Given the description of an element on the screen output the (x, y) to click on. 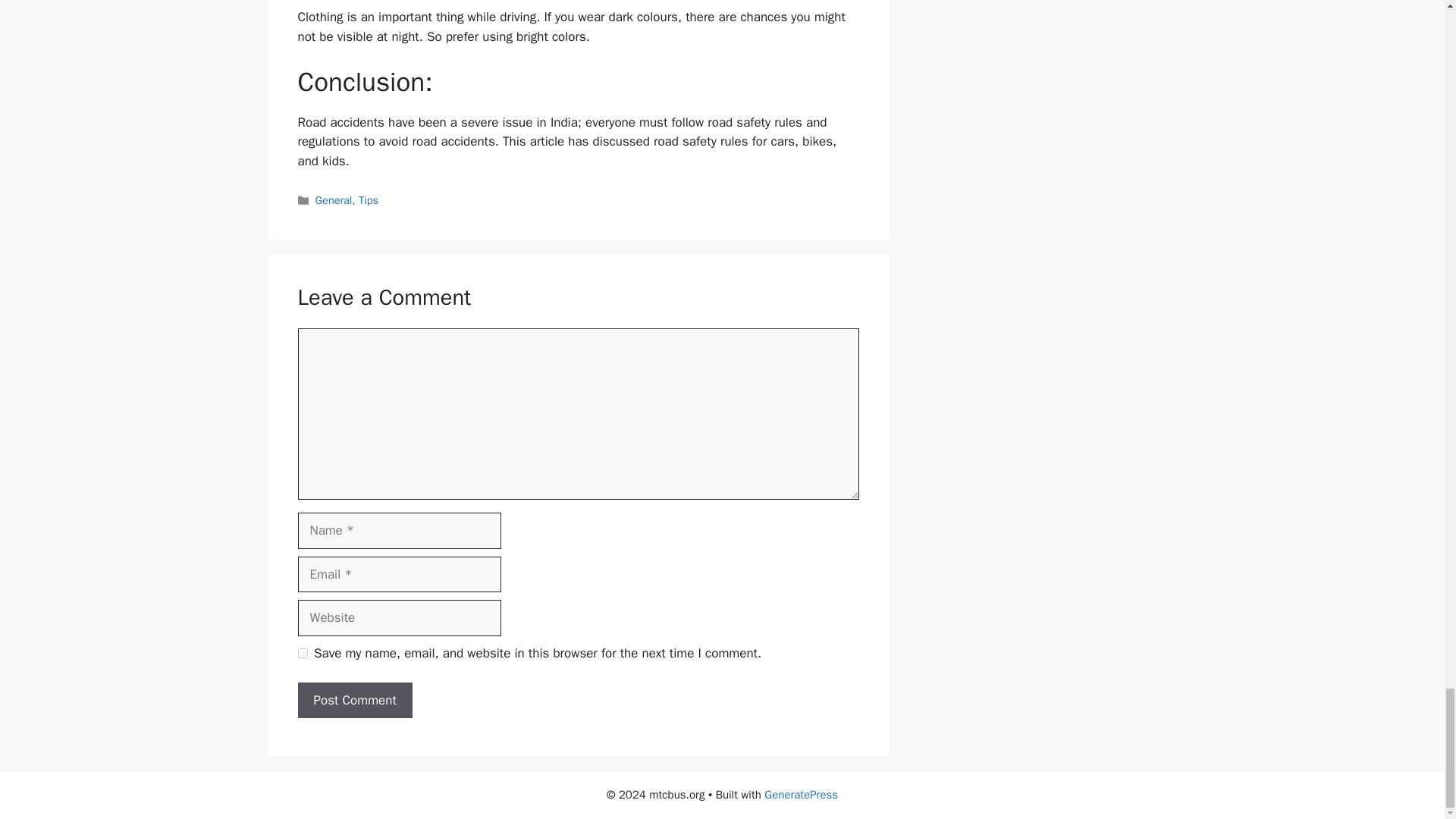
General (333, 200)
yes (302, 653)
Post Comment (354, 700)
Tips (368, 200)
Post Comment (354, 700)
